Given the description of an element on the screen output the (x, y) to click on. 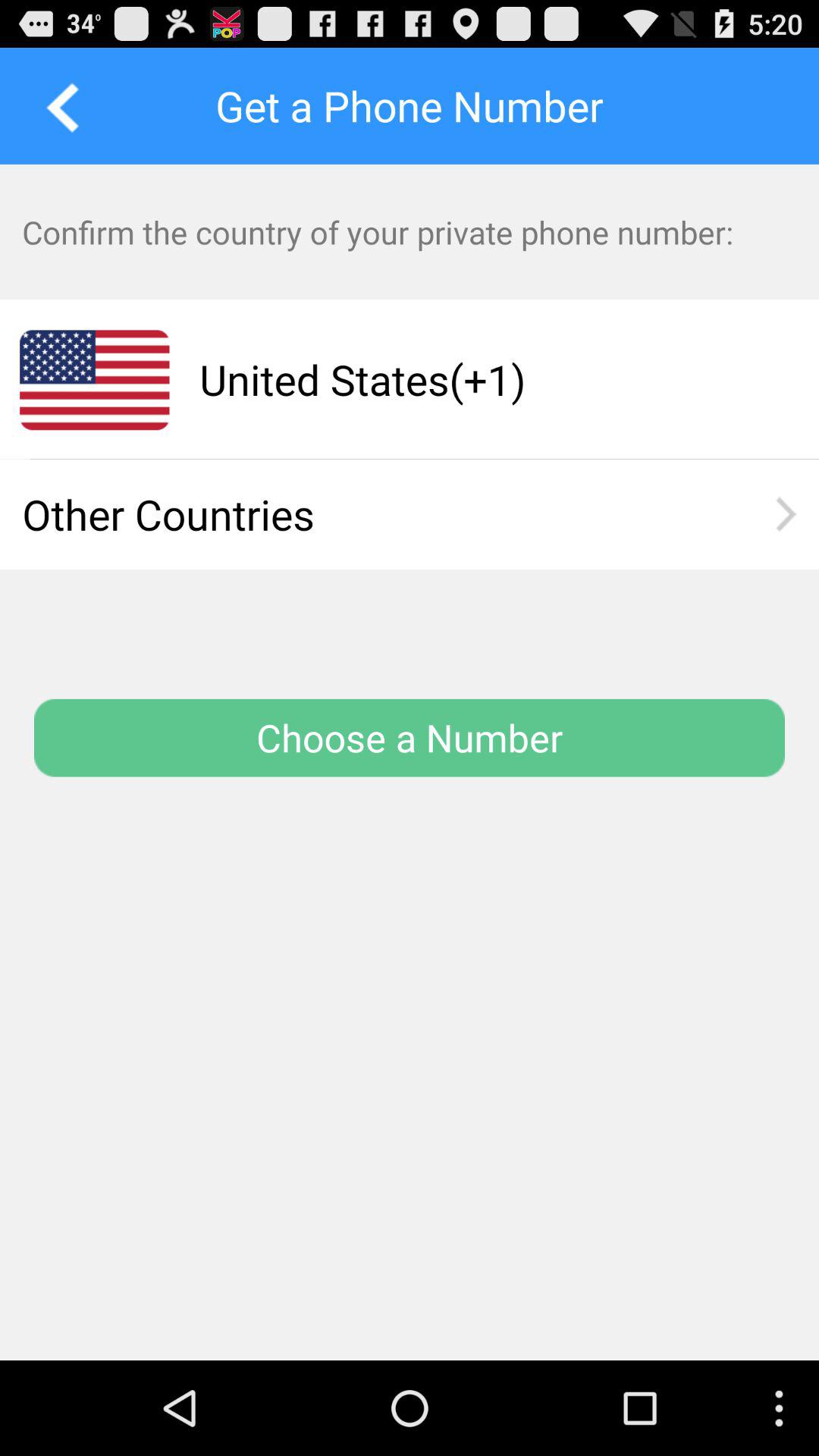
previous page (57, 105)
